Given the description of an element on the screen output the (x, y) to click on. 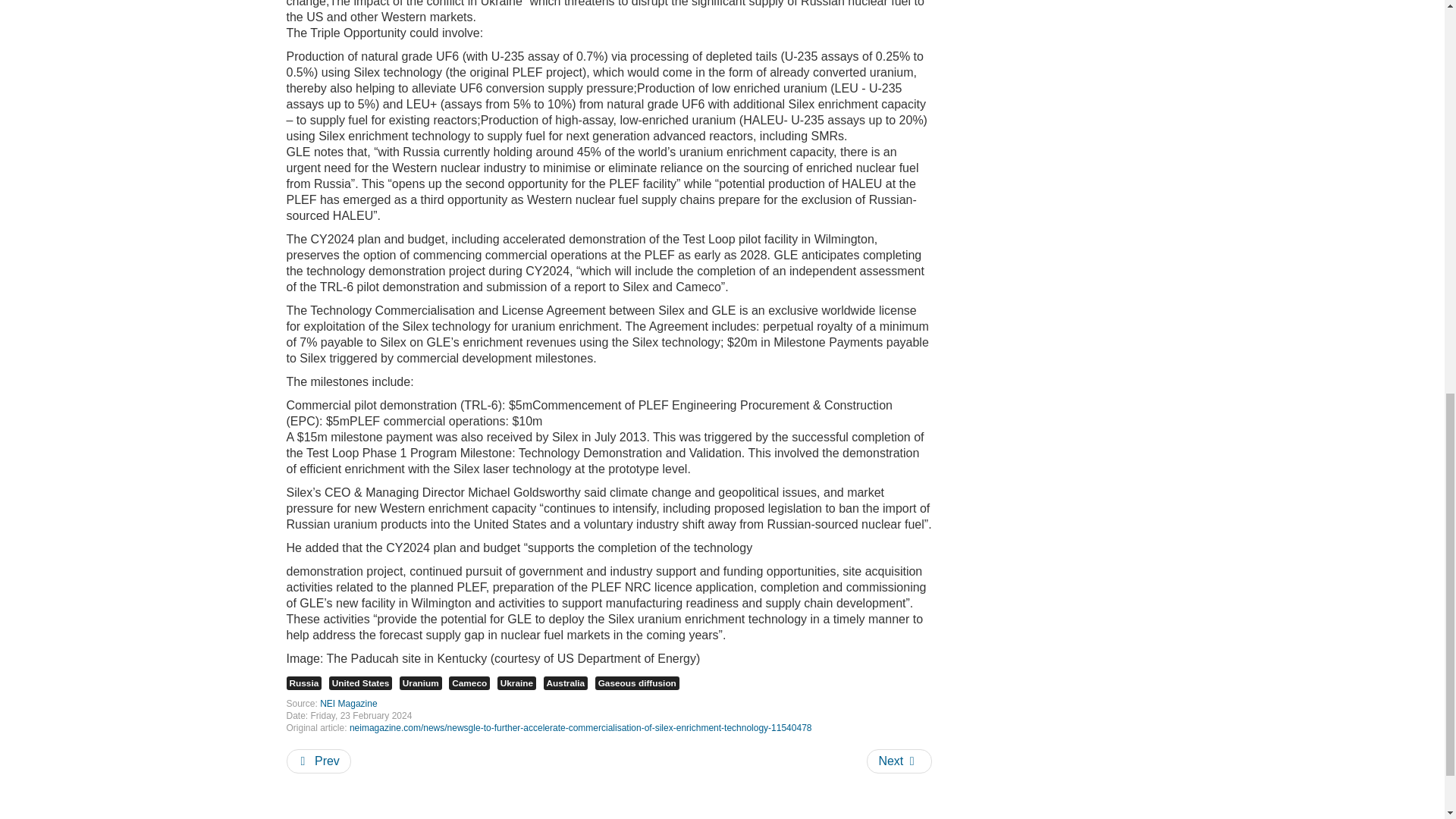
Russia (303, 683)
Gaseous diffusion (637, 683)
Prev (318, 761)
Ukraine (516, 683)
Cameco (468, 683)
United States (361, 683)
Next (898, 761)
NEI Magazine (348, 703)
Australia (565, 683)
Uranium (420, 683)
